Given the description of an element on the screen output the (x, y) to click on. 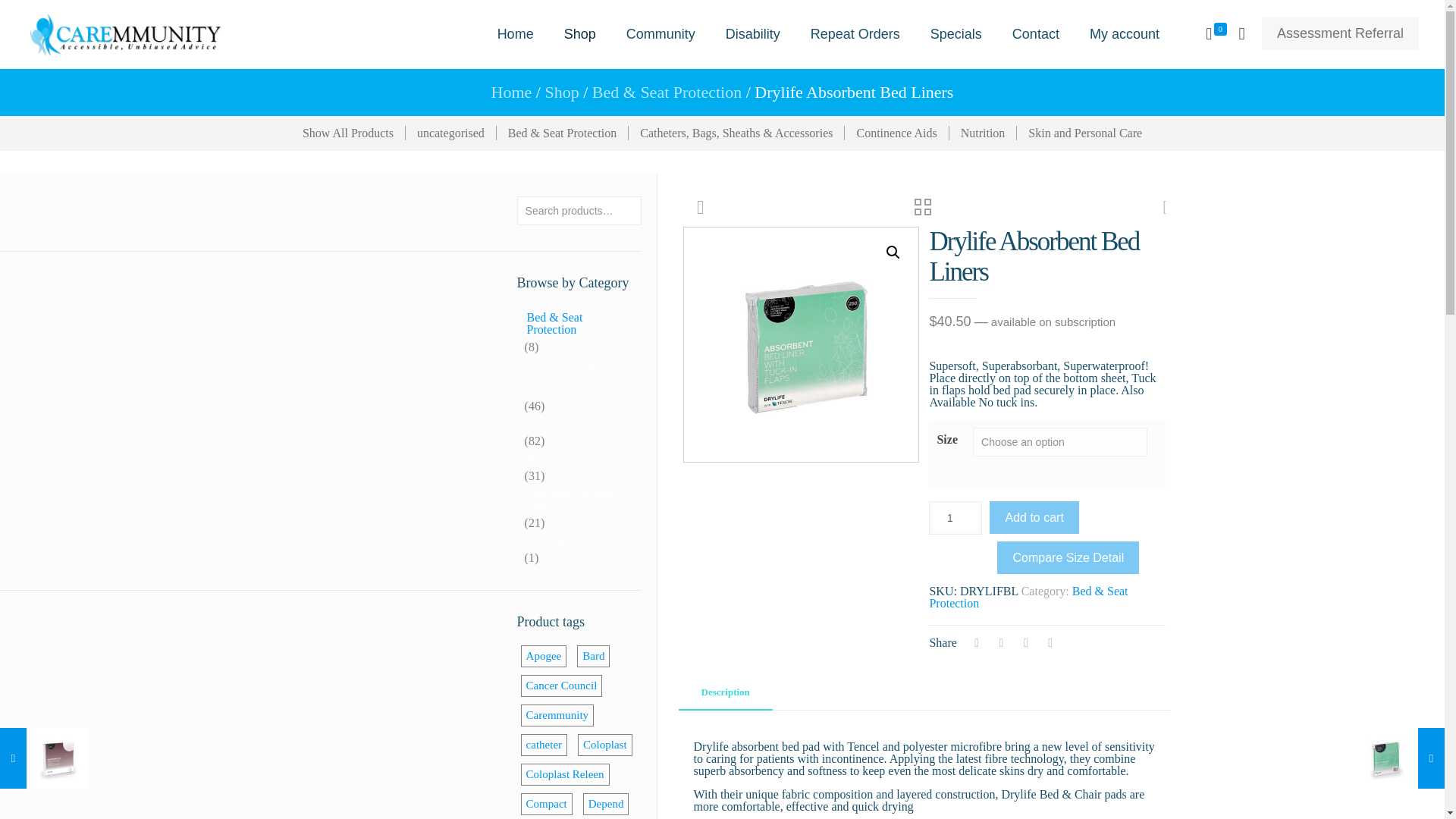
Contact (1035, 33)
Show All Products (348, 133)
Repeat Orders (854, 33)
Shop (561, 91)
Specials (956, 33)
Shop (579, 33)
Caremmunity (125, 33)
Disability (752, 33)
0 (1214, 34)
uncategorised (451, 133)
